Given the description of an element on the screen output the (x, y) to click on. 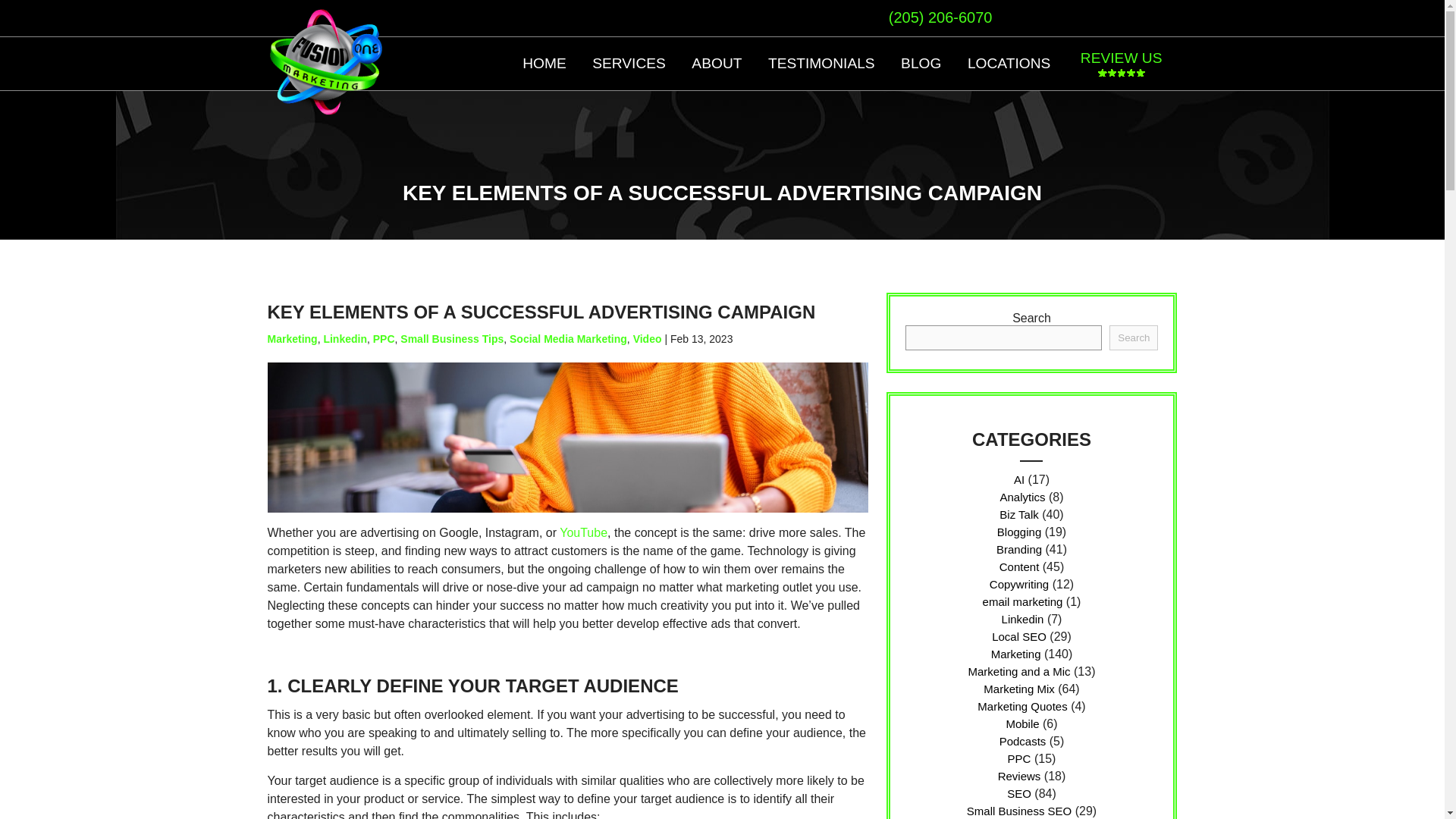
Fusion One Marketing (325, 110)
